Given the description of an element on the screen output the (x, y) to click on. 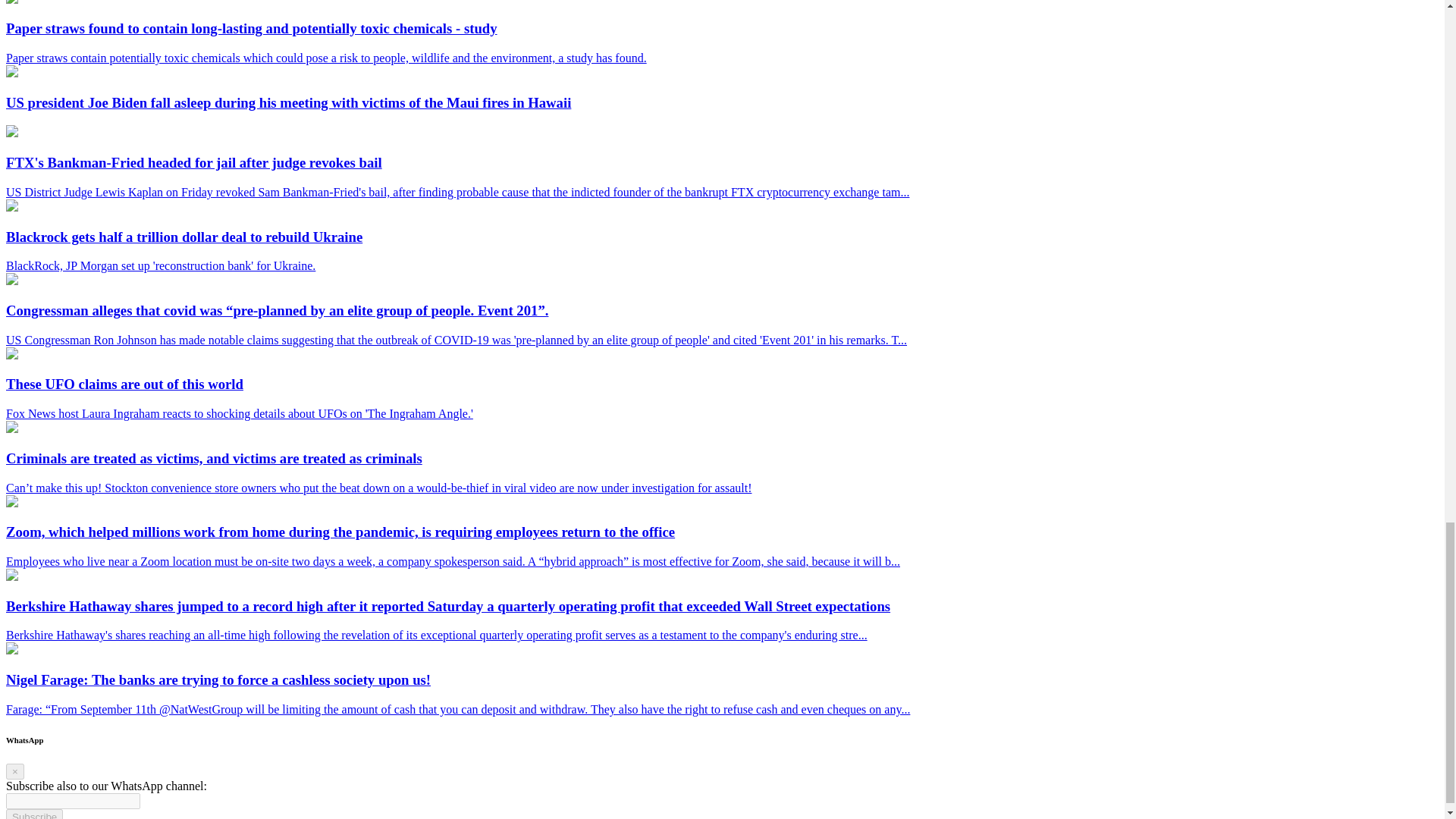
These UFO claims are out of this world (11, 354)
FTX's Bankman-Fried headed for jail after judge revokes bail (11, 132)
